Given the description of an element on the screen output the (x, y) to click on. 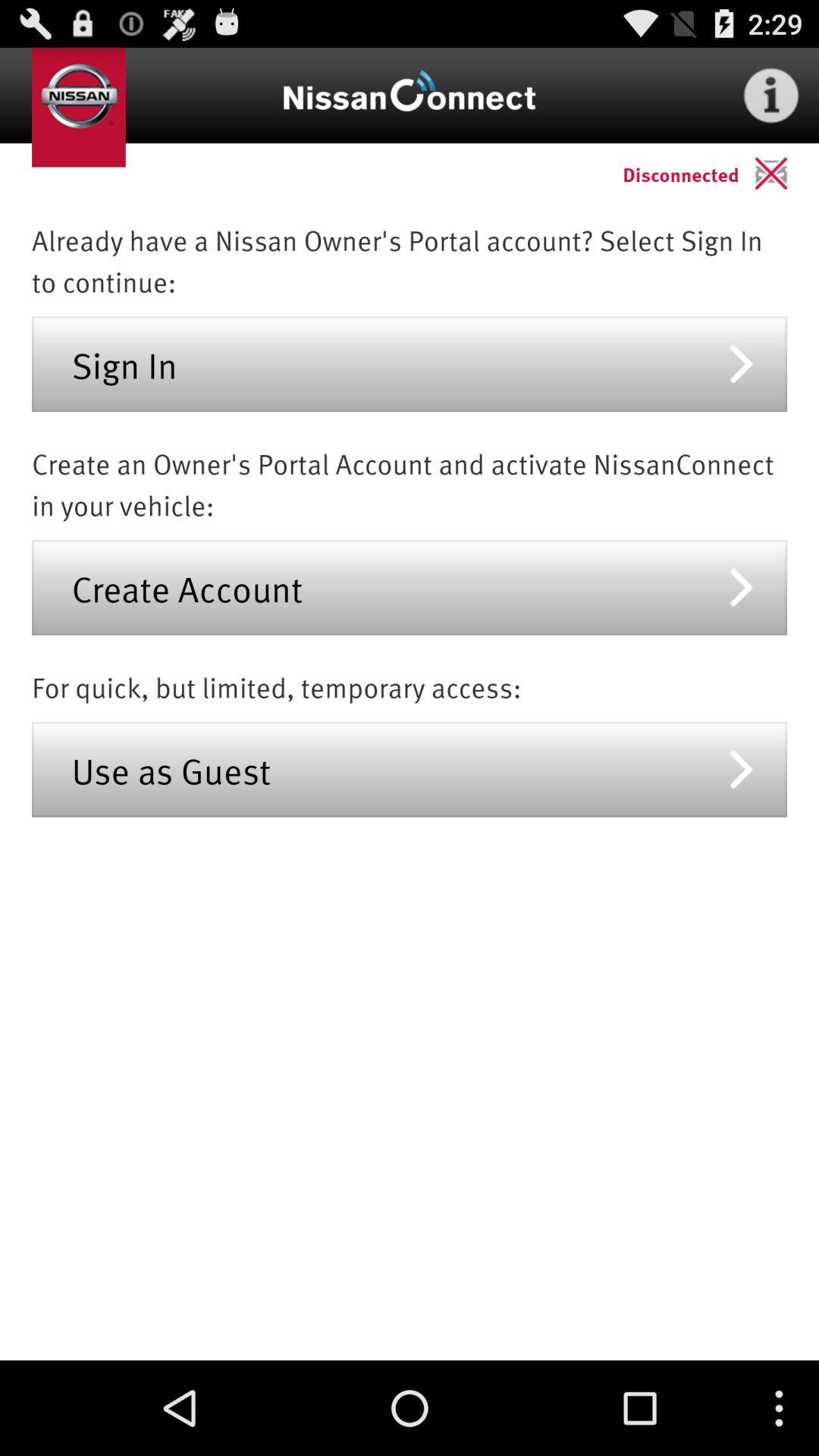
connection indicator (787, 173)
